Given the description of an element on the screen output the (x, y) to click on. 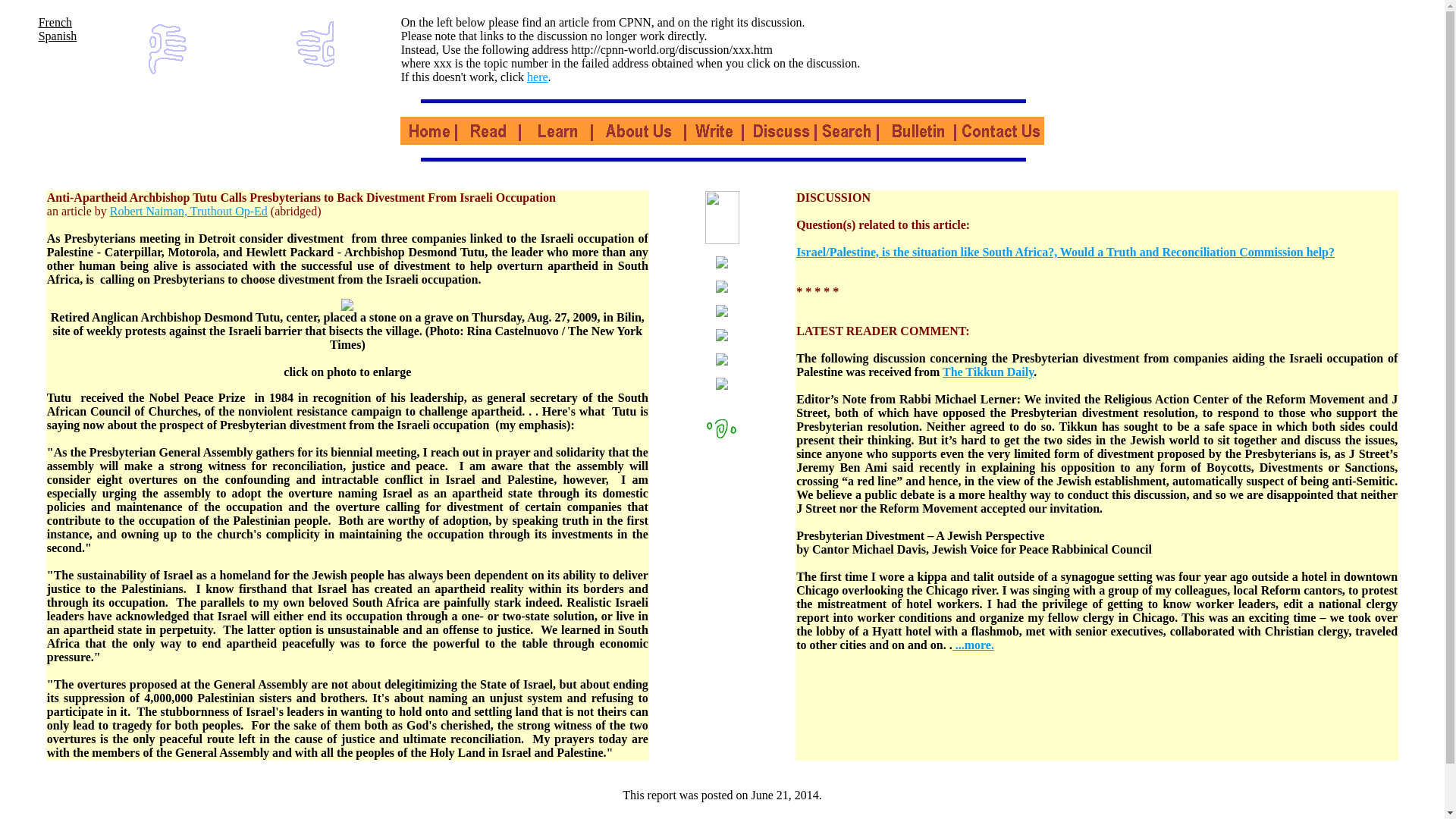
The Tikkun Daily (987, 371)
French (55, 21)
Robert Naiman, Truthout Op-Ed (188, 210)
here (537, 76)
Spanish (58, 35)
...more. (973, 644)
